Given the description of an element on the screen output the (x, y) to click on. 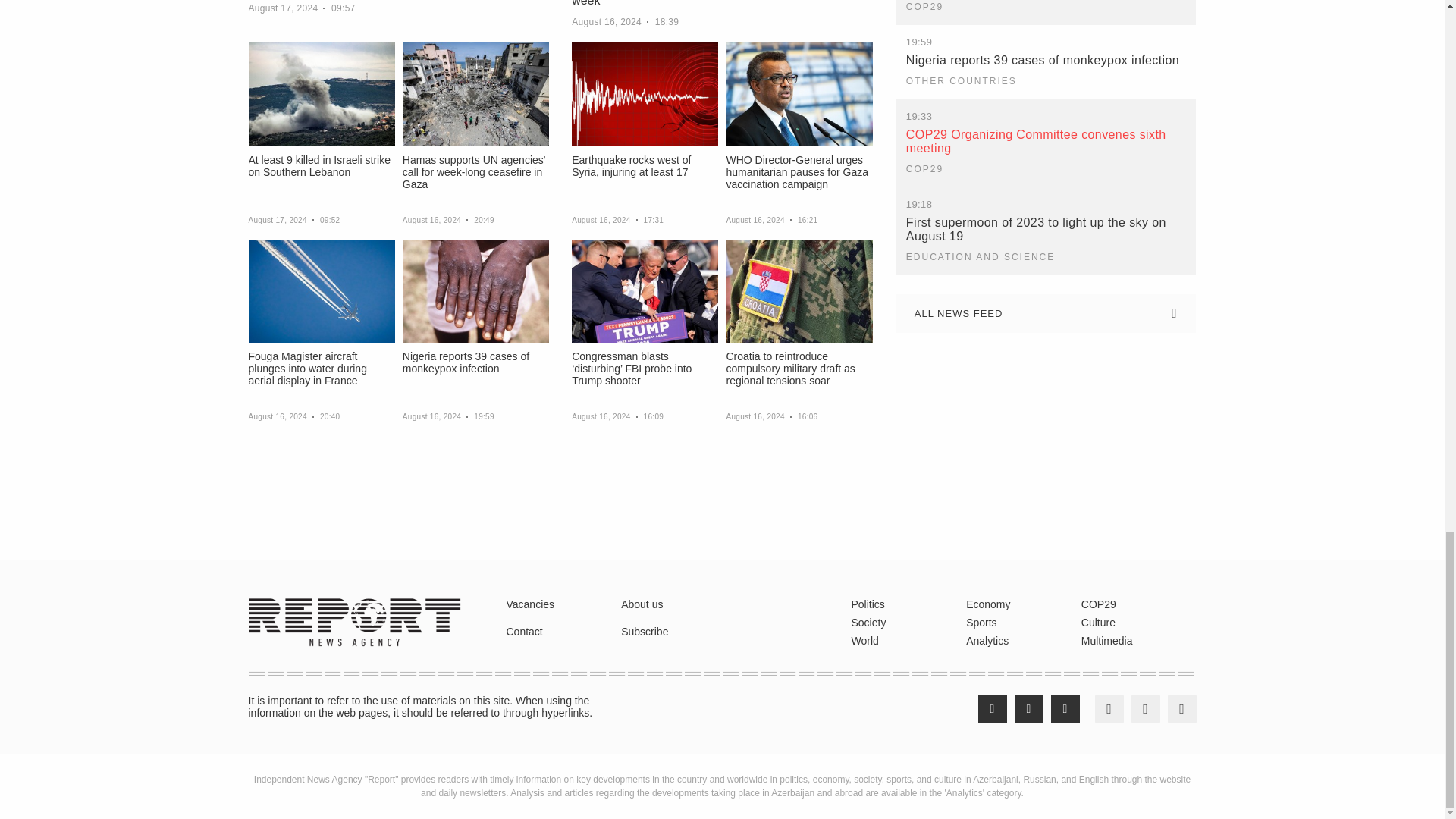
undefined (33, 525)
Nigeria reports 39 cases of monkeypox infection (475, 291)
At least 9 killed in Israeli strike on Southern Lebanon (321, 94)
